Given the description of an element on the screen output the (x, y) to click on. 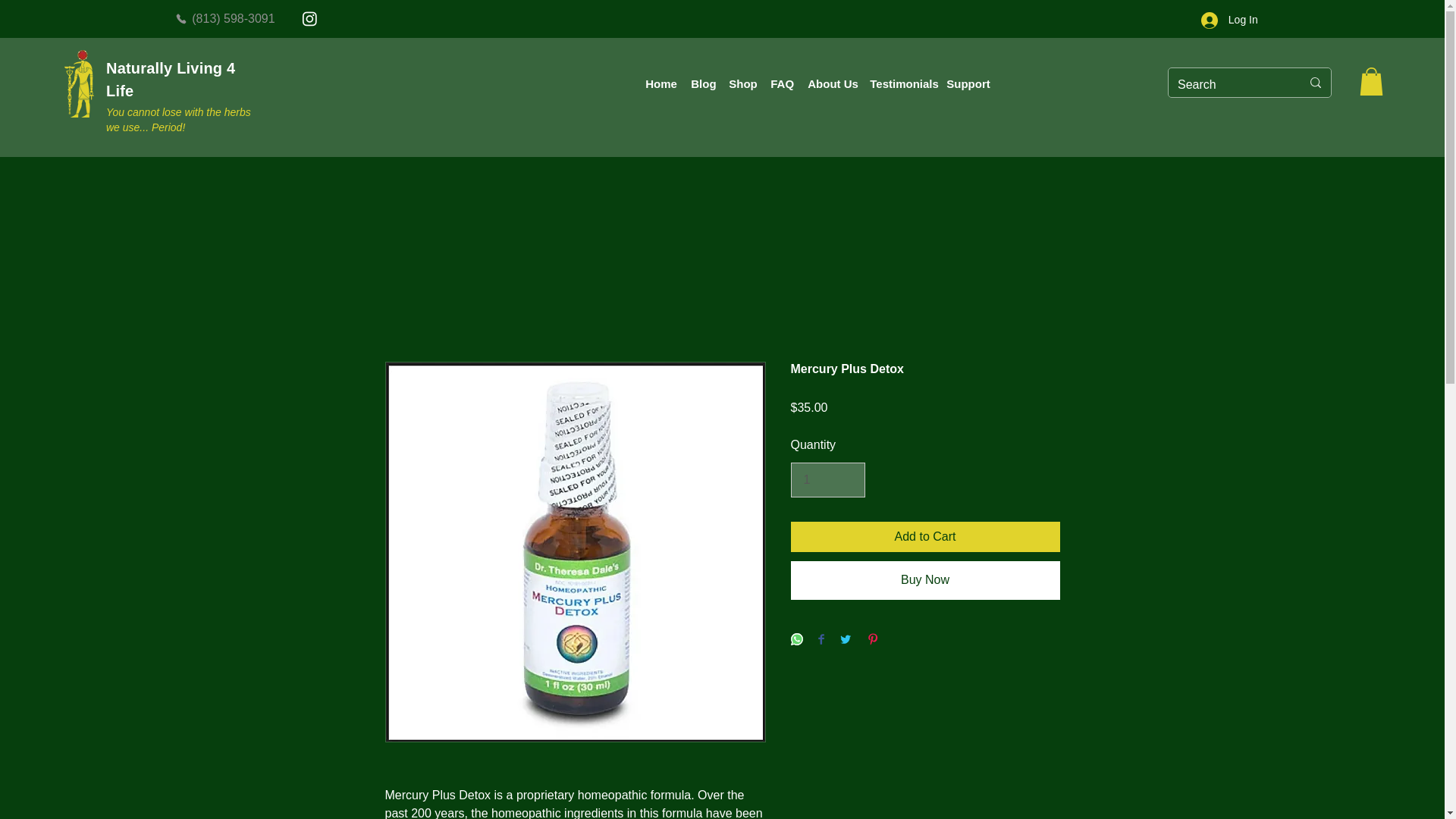
Home (659, 83)
Support (966, 83)
Shop (741, 83)
Blog (701, 83)
Buy Now (924, 579)
About Us (830, 83)
Testimonials (900, 83)
1 (827, 479)
FAQ (780, 83)
Add to Cart (924, 536)
Log In (1229, 19)
